Given the description of an element on the screen output the (x, y) to click on. 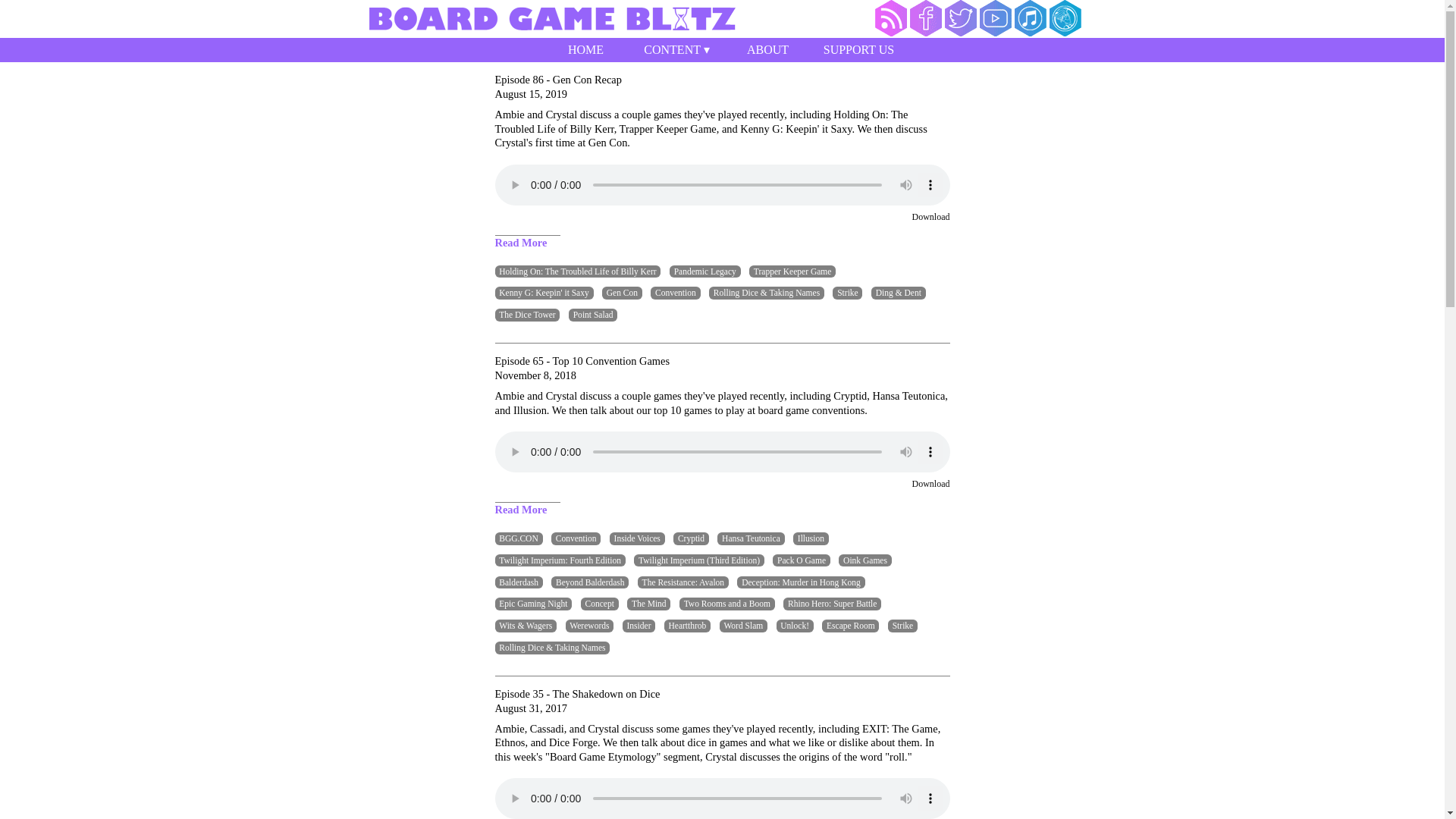
Episode 65 - Top 10 Convention Games (722, 360)
Cryptid (690, 538)
Trapper Keeper Game (792, 271)
HOME (585, 49)
Holding On: The Troubled Life of Billy Kerr (578, 271)
Inside Voices (637, 538)
Read More (521, 242)
Pandemic Legacy (705, 271)
Gen Con (622, 292)
Hansa Teutonica (750, 538)
